Given the description of an element on the screen output the (x, y) to click on. 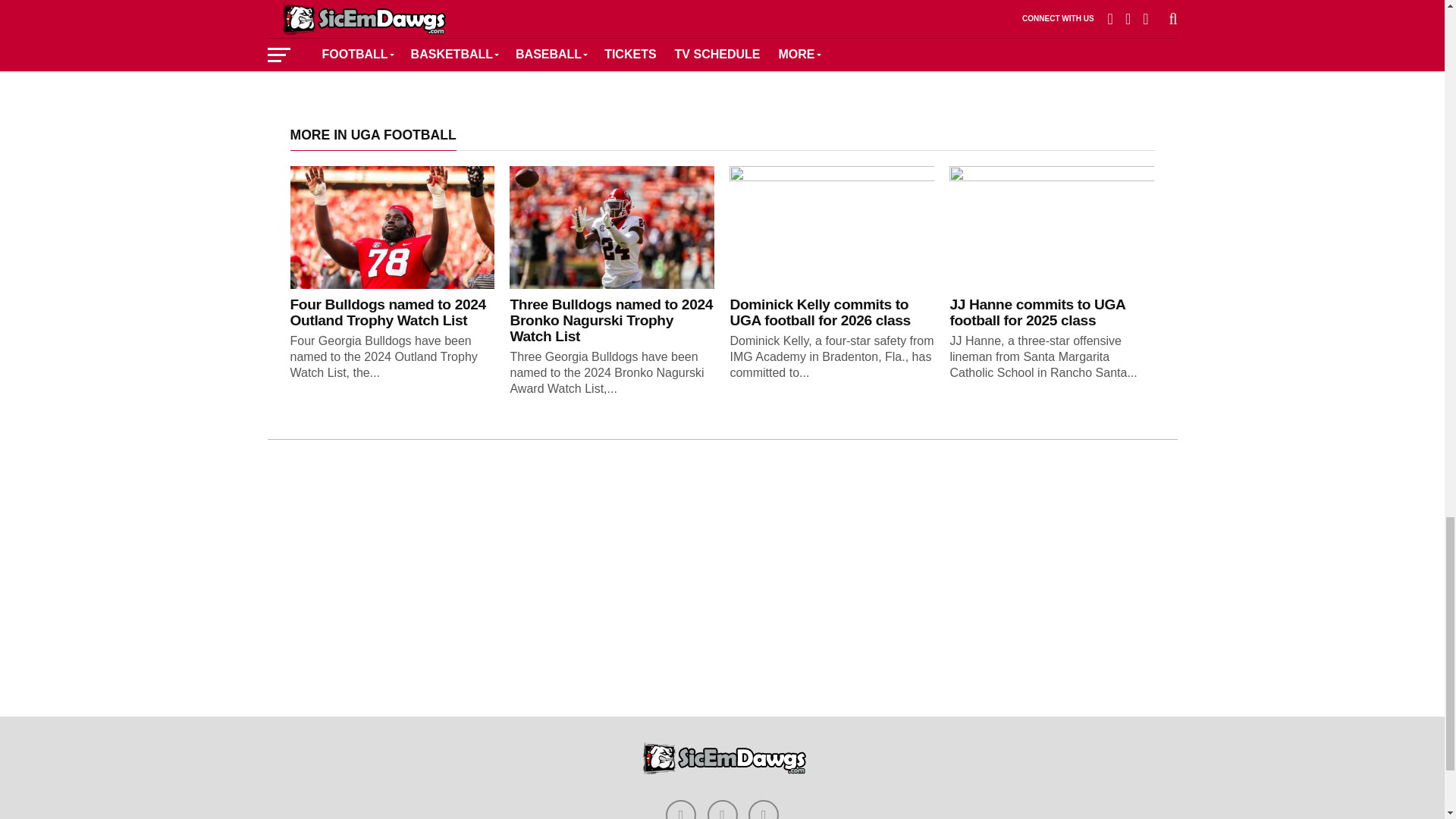
Advertisement (604, 37)
